Given the description of an element on the screen output the (x, y) to click on. 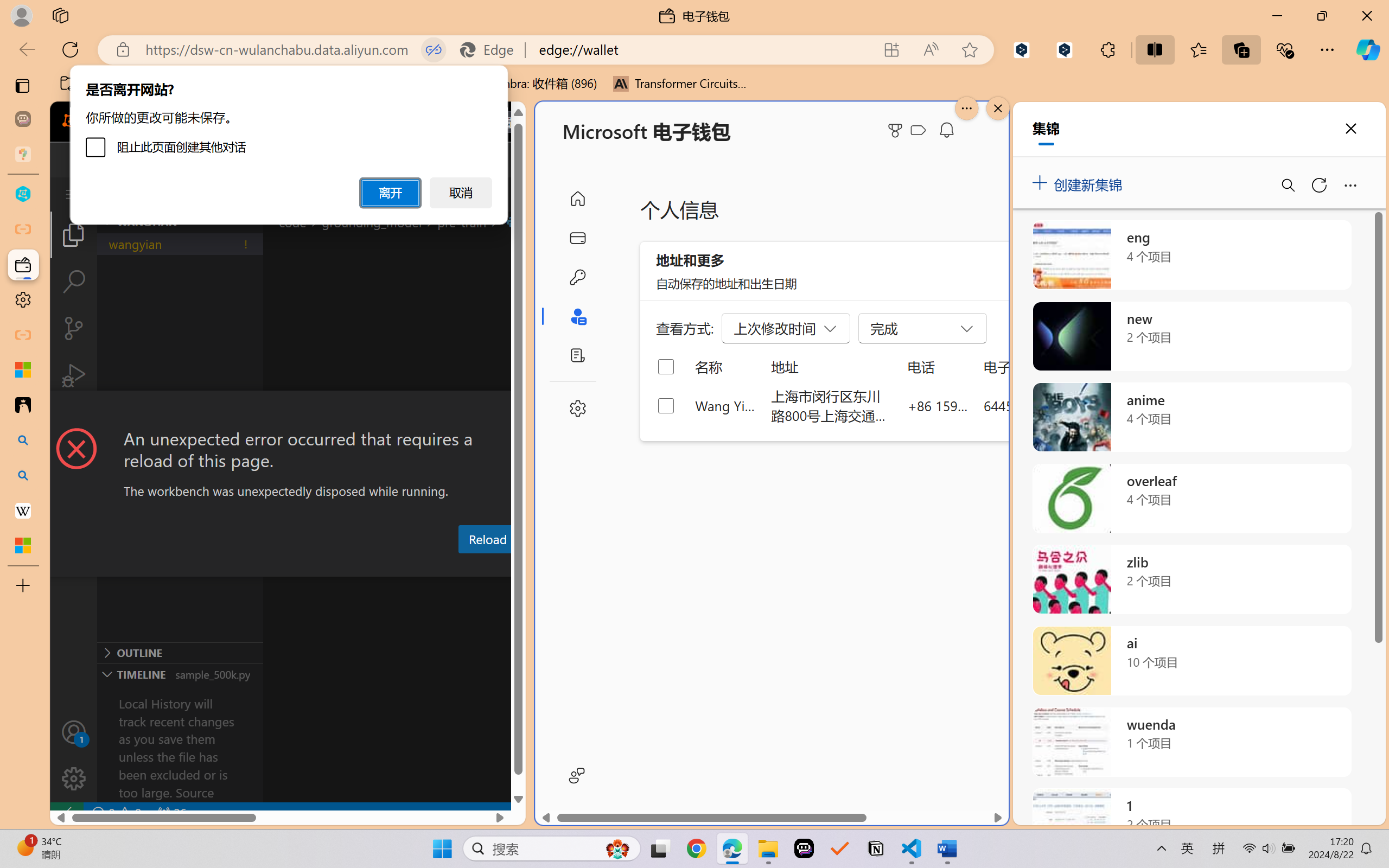
remote (66, 812)
Manage (73, 755)
Microsoft Rewards (896, 129)
Terminal (Ctrl+`) (553, 565)
